Given the description of an element on the screen output the (x, y) to click on. 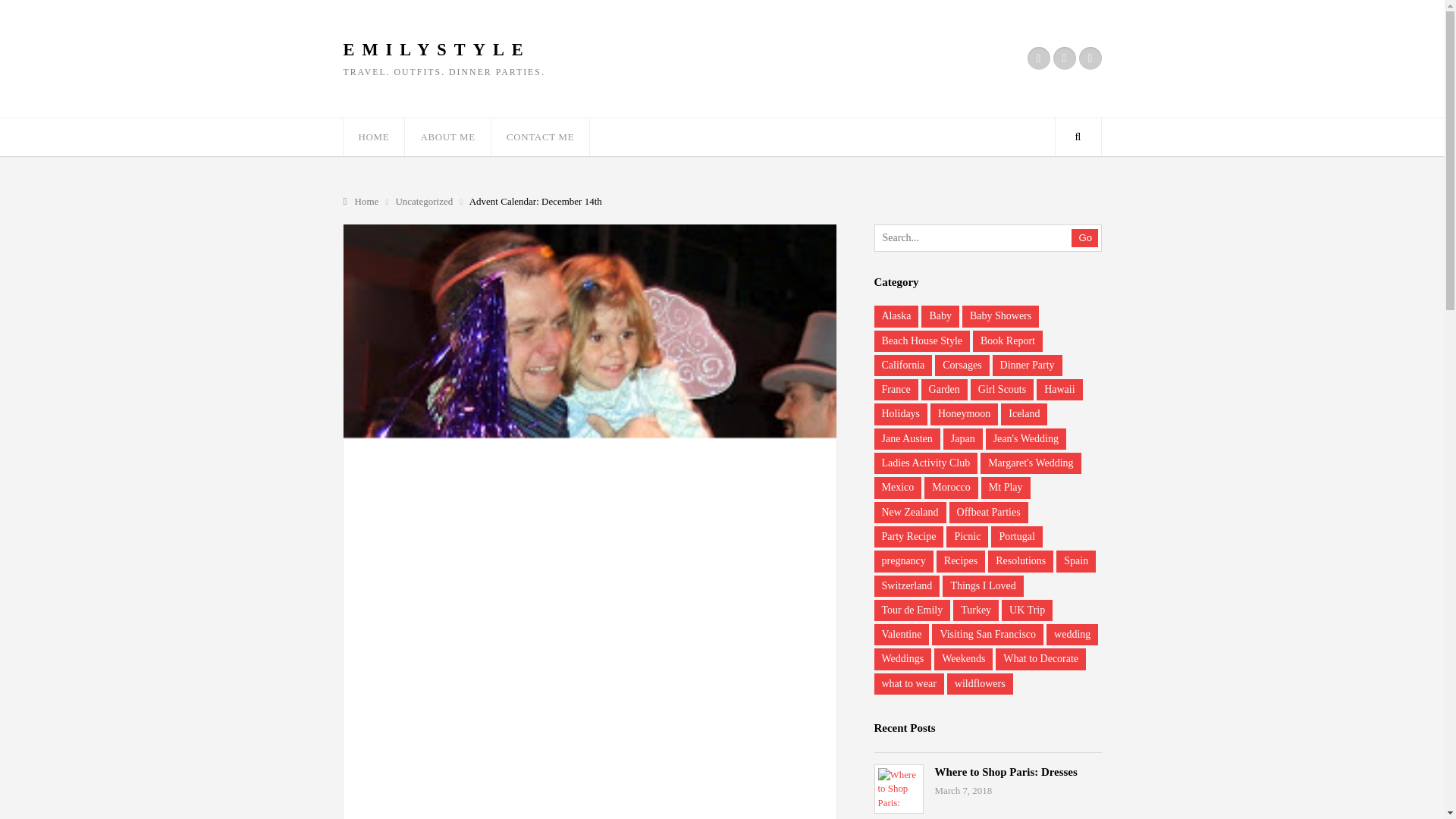
Go (1083, 238)
Instagram (1063, 57)
HOME (373, 136)
Home (361, 201)
Pinterest (1089, 57)
Corsages (961, 364)
Beach House Style (921, 341)
Alaska (895, 315)
Baby Showers (1000, 315)
Book Report (1007, 341)
EmilyStyle (435, 49)
CONTACT ME (540, 136)
EMILYSTYLE (435, 49)
EmilyStyle (361, 201)
Uncategorized (424, 201)
